Given the description of an element on the screen output the (x, y) to click on. 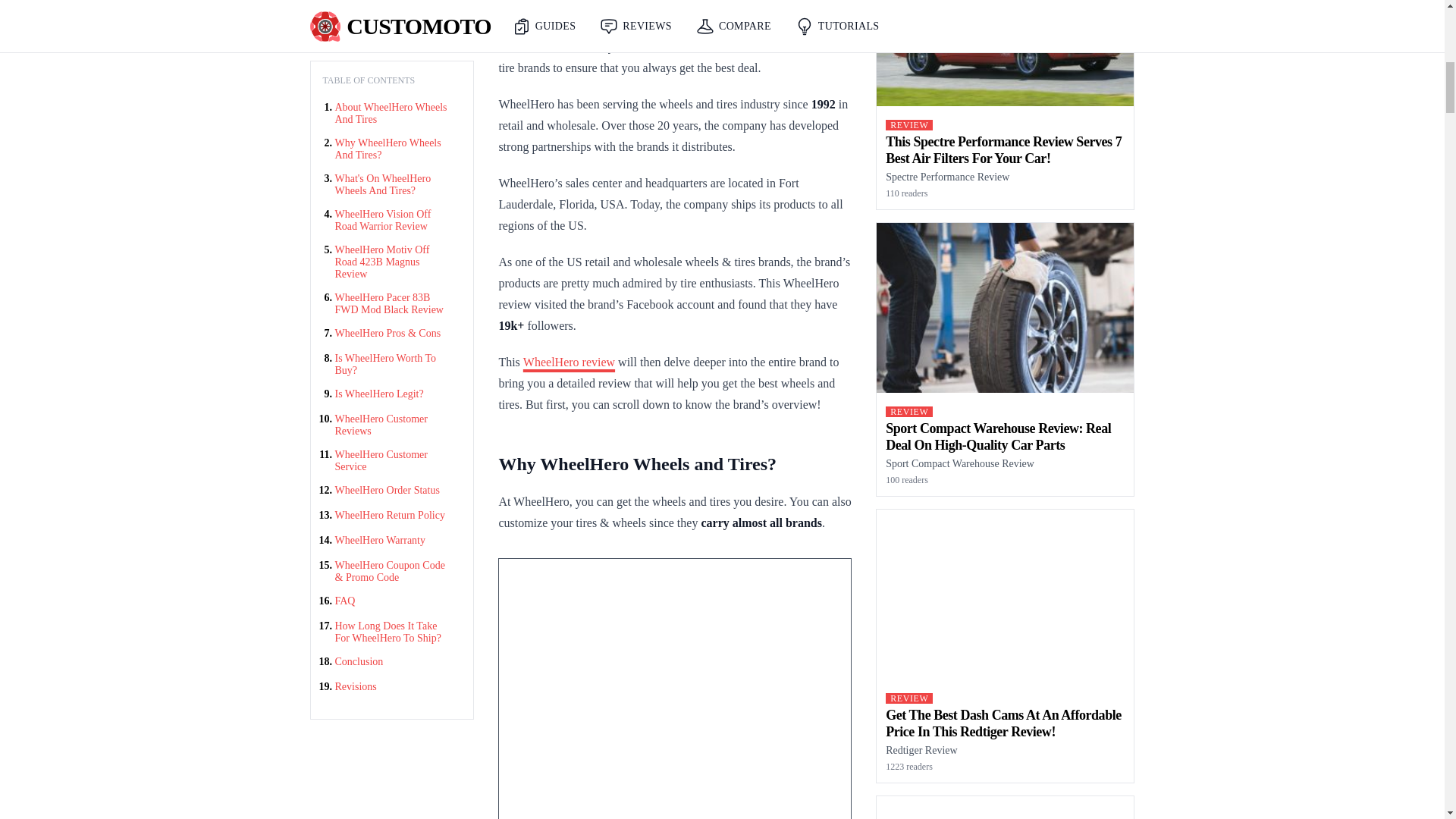
Conclusion (359, 275)
How Long Does It Take For WheelHero To Ship? (391, 245)
WheelHero Order Status (386, 103)
Is WheelHero Legit? (378, 7)
FAQ (344, 214)
WheelHero Return Policy (389, 128)
WheelHero Warranty (380, 153)
WheelHero Customer Reviews (391, 38)
WheelHero Customer Service (391, 74)
